Given the description of an element on the screen output the (x, y) to click on. 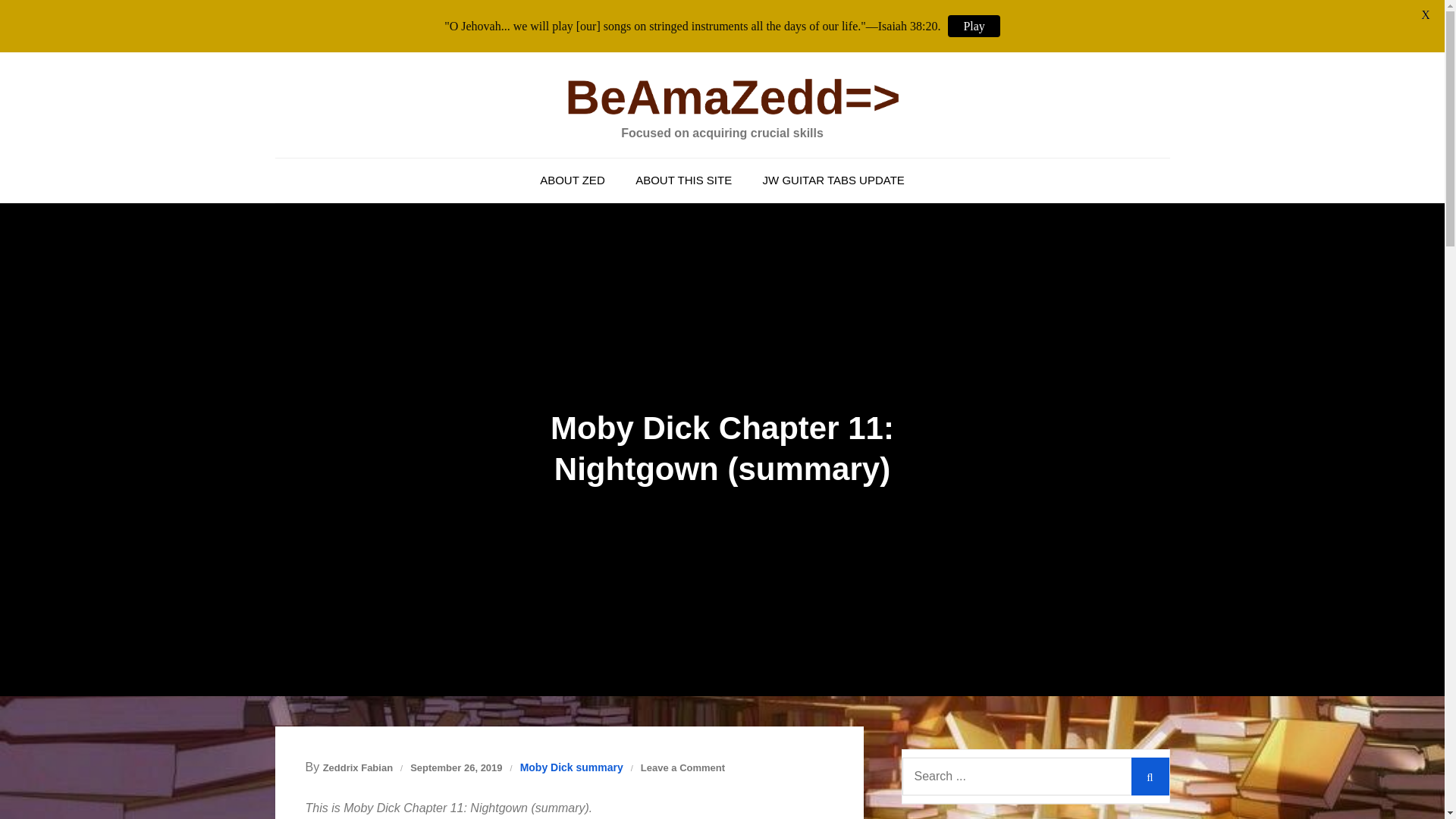
ABOUT THIS SITE (683, 180)
JW GUITAR TABS UPDATE (833, 180)
Zeddrix Fabian (358, 767)
Search for: (1035, 776)
Moby Dick summary (571, 767)
ABOUT ZED (571, 180)
Search (1150, 776)
September 26, 2019 (456, 767)
